Given the description of an element on the screen output the (x, y) to click on. 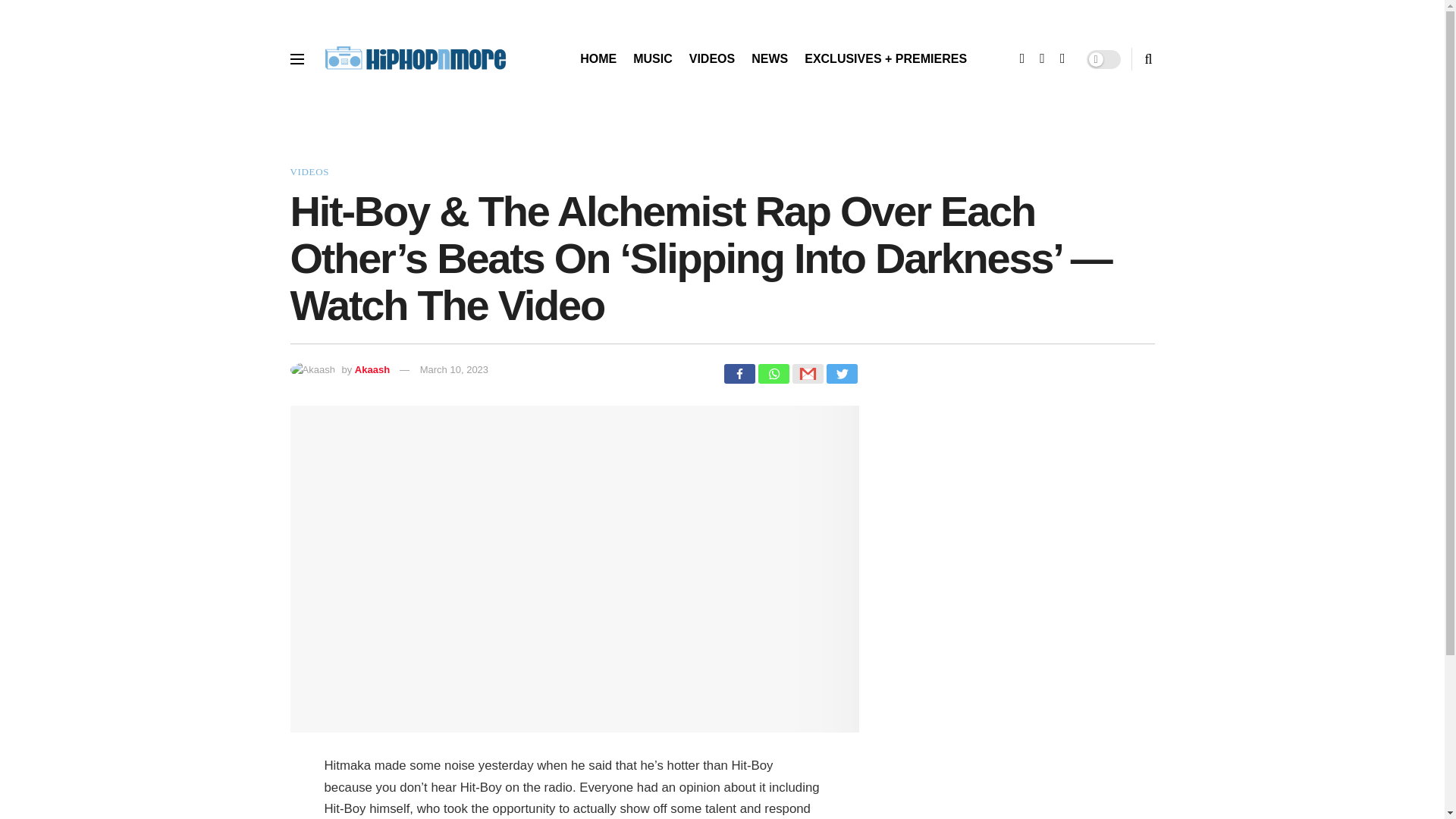
Akaash (372, 369)
NEWS (769, 58)
Twitter (842, 373)
Google Gmail (807, 373)
VIDEOS (309, 171)
March 10, 2023 (453, 369)
MUSIC (652, 58)
Whatsapp (773, 373)
VIDEOS (711, 58)
Facebook (738, 373)
HOME (597, 58)
